Given the description of an element on the screen output the (x, y) to click on. 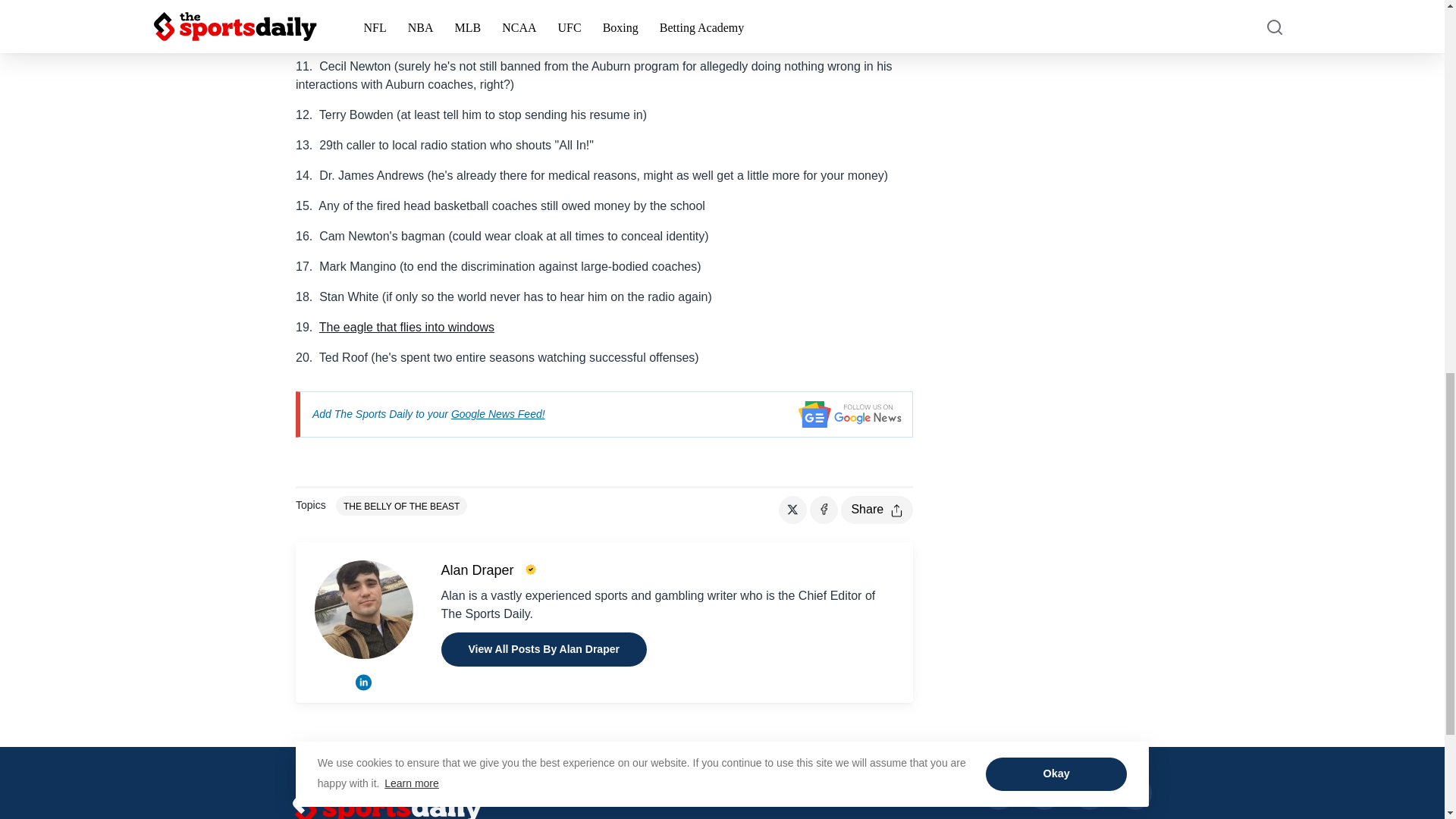
THE BELLY OF THE BEAST (401, 505)
Share   (876, 510)
View All Posts By Alan Draper (543, 649)
The eagle that flies into windows (406, 327)
Google News Feed! (497, 413)
